Given the description of an element on the screen output the (x, y) to click on. 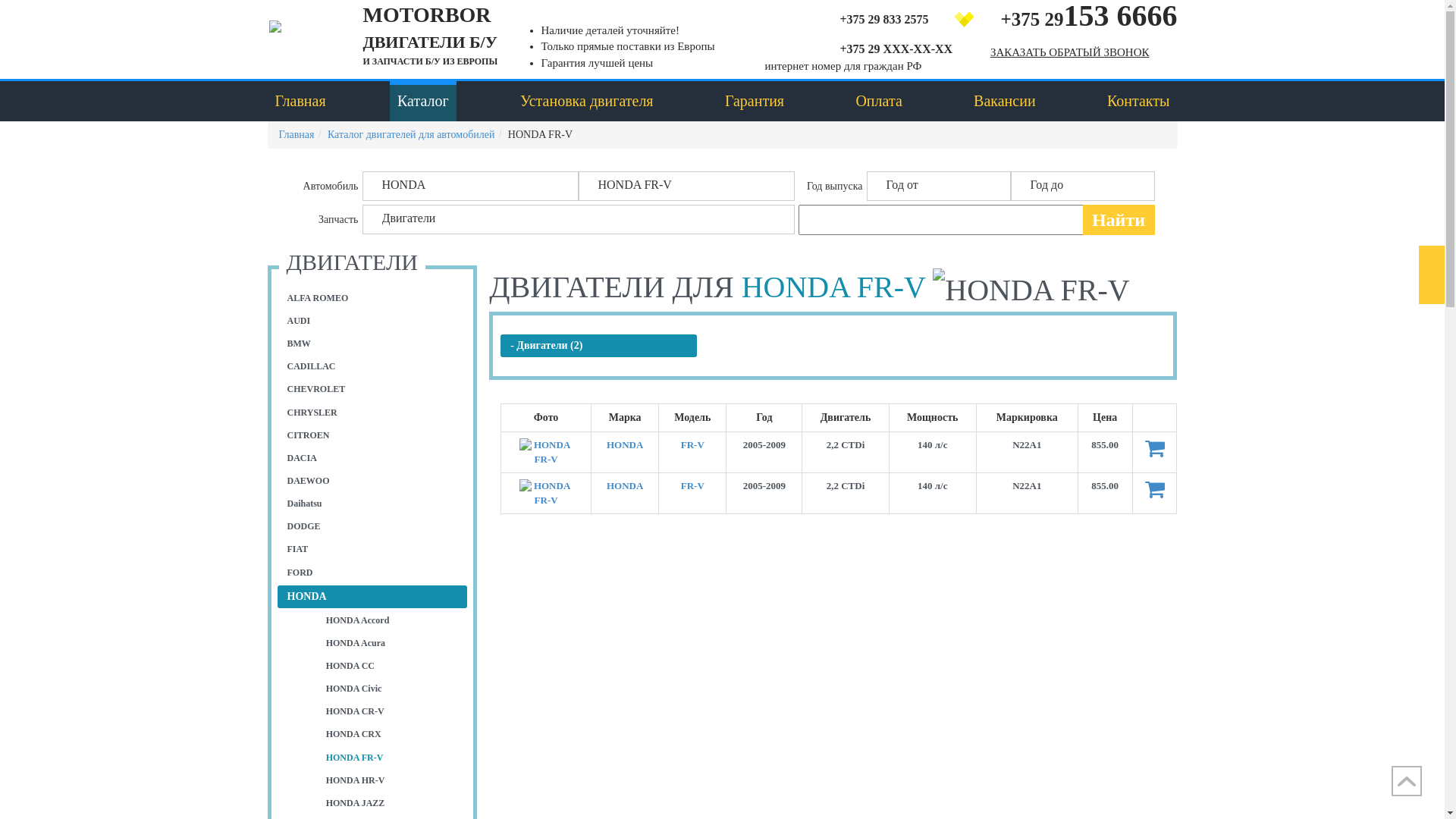
CHEVROLET Element type: text (372, 389)
CHRYSLER Element type: text (372, 412)
HONDA Civic Element type: text (389, 688)
ALFA ROMEO Element type: text (372, 298)
FORD Element type: text (372, 572)
CITROEN Element type: text (372, 435)
FR-V Element type: text (692, 444)
Daihatsu Element type: text (372, 503)
DODGE Element type: text (372, 526)
HONDA JAZZ Element type: text (389, 803)
HONDA FR-V Element type: hover (545, 452)
+375 29 XXX-XX-XX Element type: text (867, 48)
HONDA Accord Element type: text (389, 620)
HONDA CC Element type: text (389, 665)
HONDA CR-V Element type: text (389, 711)
FIAT Element type: text (372, 549)
HONDA Element type: text (372, 596)
HONDA Element type: text (624, 444)
HONDA CRX Element type: text (389, 734)
HONDA FR-V Element type: hover (1030, 289)
DACIA Element type: text (372, 458)
HONDA FR-V
  Element type: text (685, 185)
DAEWOO Element type: text (372, 480)
HONDA FR-V Element type: hover (545, 493)
FR-V Element type: text (692, 485)
CADILLAC Element type: text (372, 366)
HONDA
  Element type: text (470, 185)
AUDI Element type: text (372, 320)
BMW Element type: text (372, 343)
HONDA Acura Element type: text (389, 643)
HONDA FR-V Element type: text (389, 757)
HONDA Element type: text (624, 485)
HONDA HR-V Element type: text (389, 780)
+375 29 833 2575 Element type: text (867, 18)
